Given the description of an element on the screen output the (x, y) to click on. 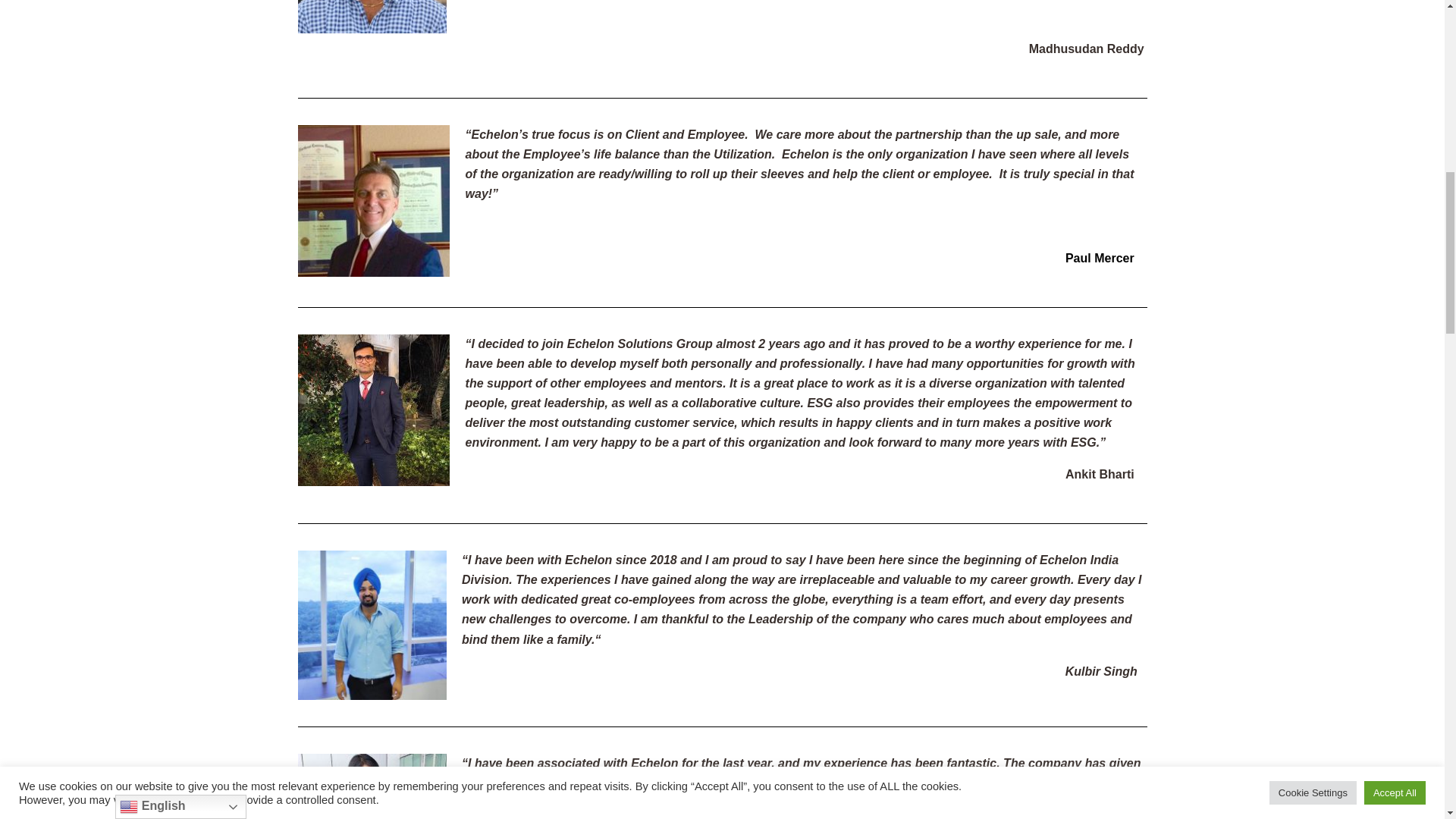
qwe (371, 17)
anisha (371, 786)
paul-mercer-echelon-solutions-group (372, 200)
